Given the description of an element on the screen output the (x, y) to click on. 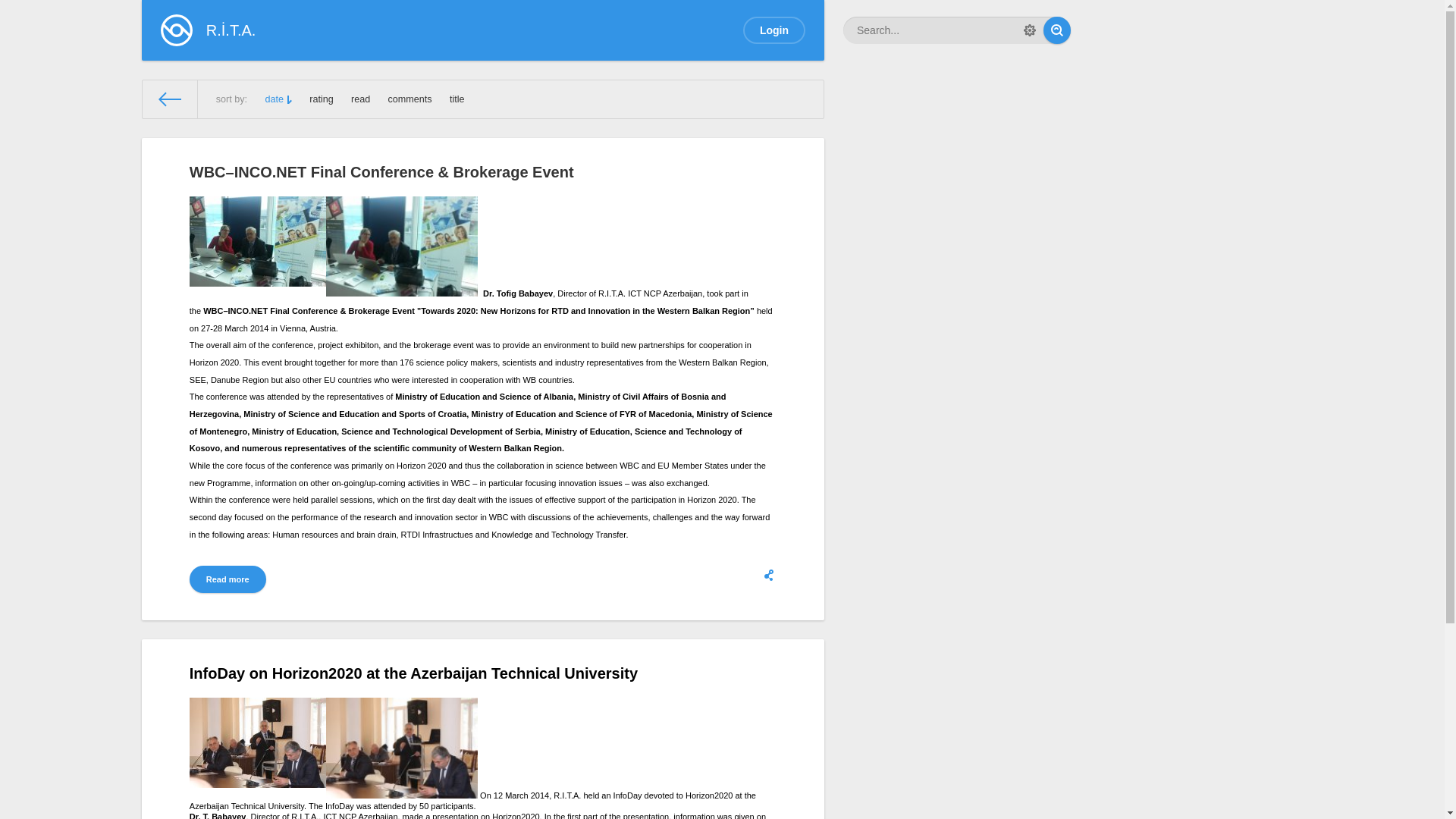
read Element type: text (360, 99)
date Element type: text (277, 99)
Login Element type: text (774, 29)
Read more Element type: text (227, 579)
Extended Search Element type: hover (1029, 29)
comments Element type: text (410, 99)
Find Element type: hover (1056, 29)
title Element type: text (456, 99)
rating Element type: text (321, 99)
